Given the description of an element on the screen output the (x, y) to click on. 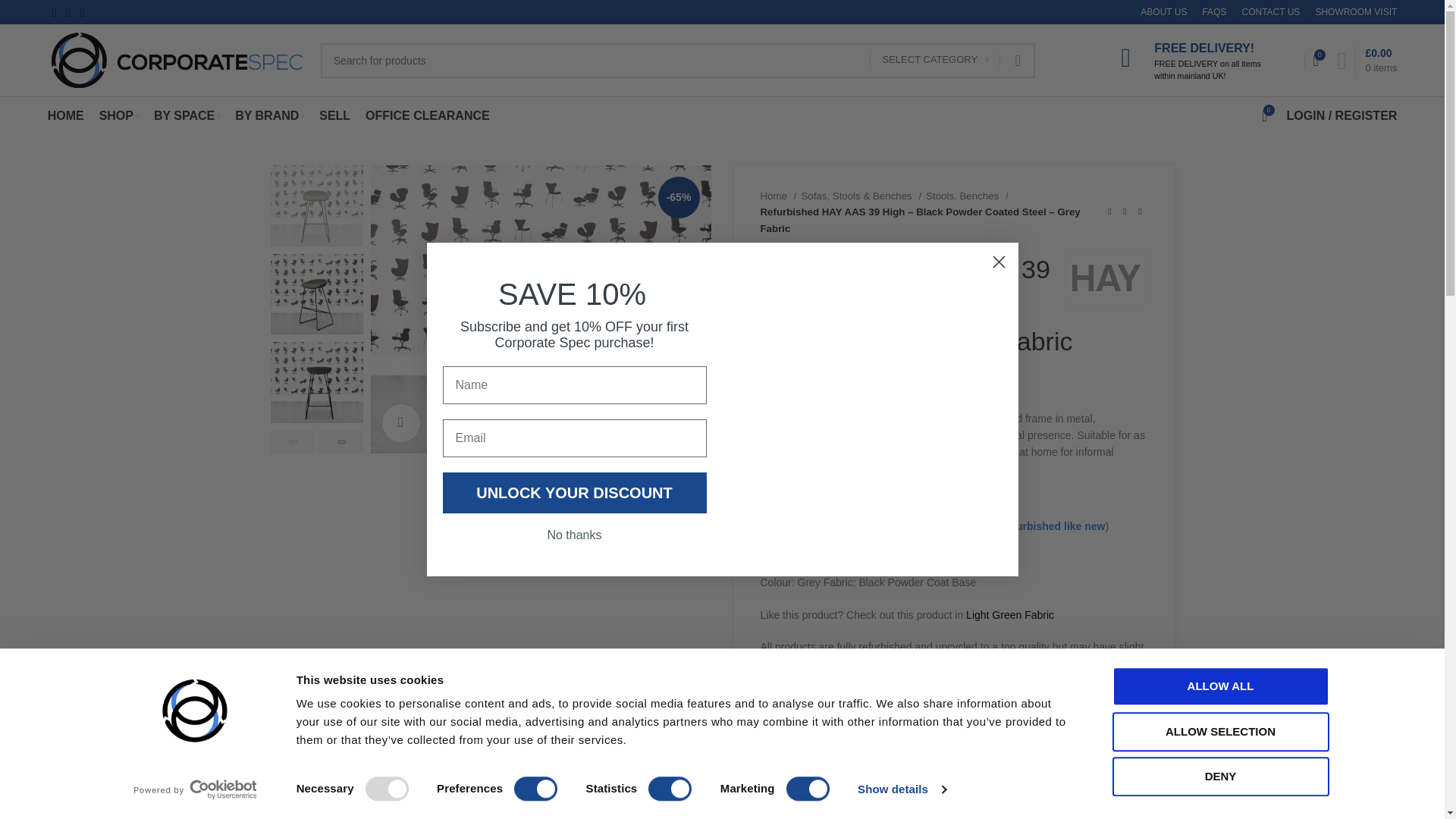
Show details (900, 789)
SELECT CATEGORY (934, 60)
on (387, 788)
